Given the description of an element on the screen output the (x, y) to click on. 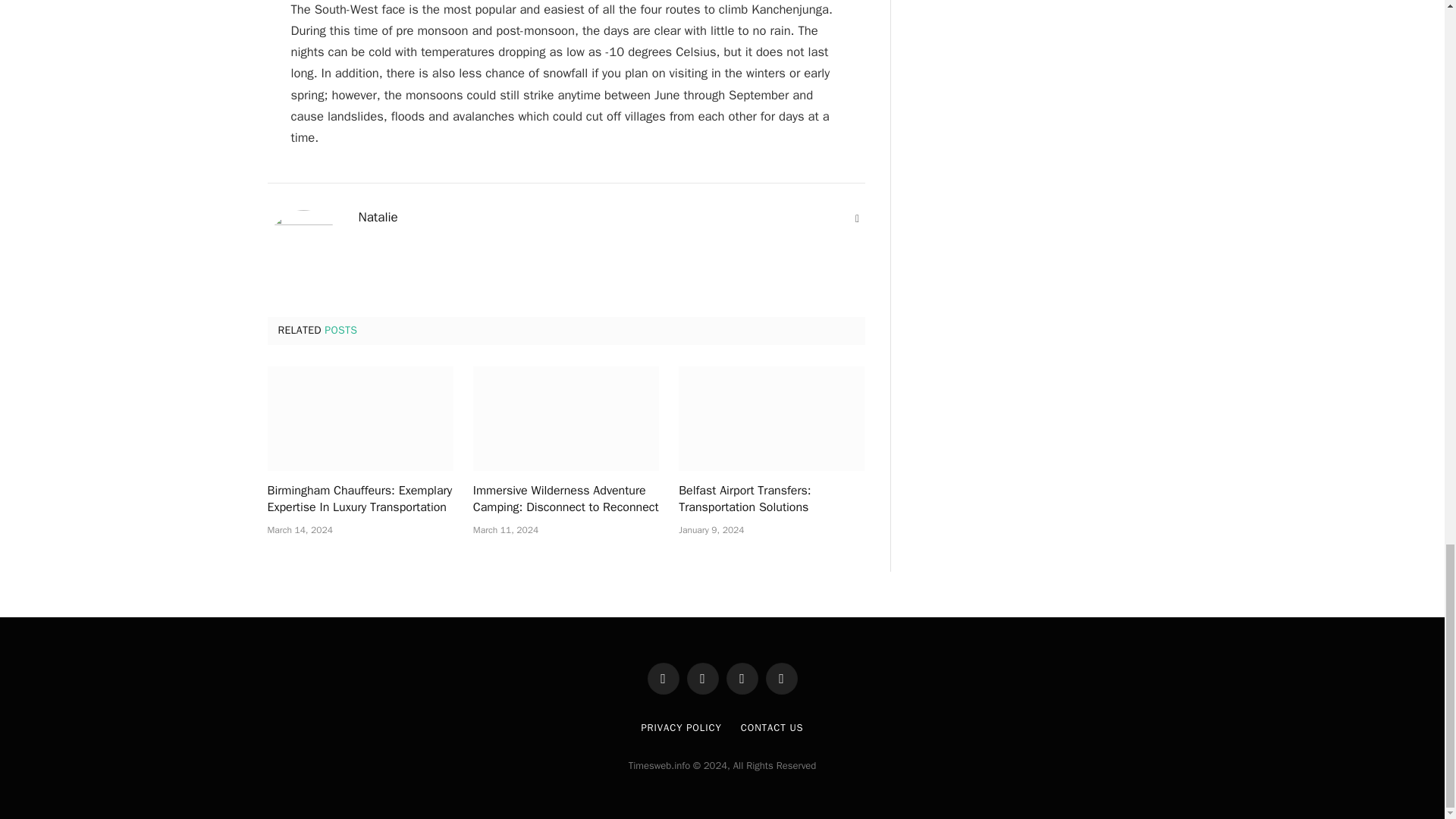
Website (856, 218)
Website (856, 218)
Belfast Airport Transfers: Transportation Solutions  (771, 499)
Posts by Natalie (377, 217)
Natalie (377, 217)
